Given the description of an element on the screen output the (x, y) to click on. 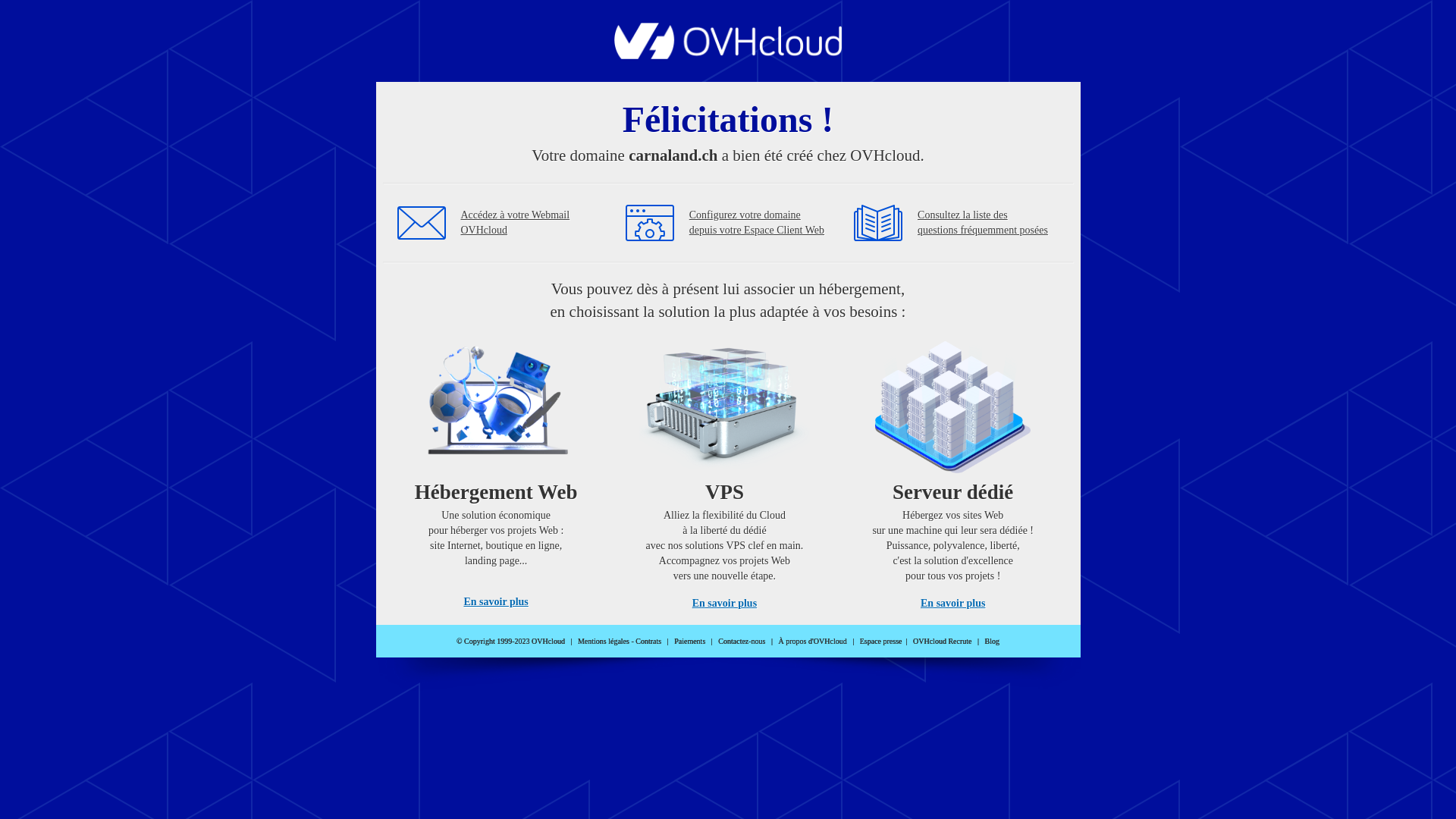
Paiements Element type: text (689, 641)
En savoir plus Element type: text (724, 602)
Espace presse Element type: text (880, 641)
Contactez-nous Element type: text (741, 641)
OVHcloud Element type: hover (727, 54)
En savoir plus Element type: text (495, 601)
Configurez votre domaine
depuis votre Espace Client Web Element type: text (756, 222)
Blog Element type: text (992, 641)
OVHcloud Recrute Element type: text (942, 641)
VPS Element type: hover (724, 469)
En savoir plus Element type: text (952, 602)
